Given the description of an element on the screen output the (x, y) to click on. 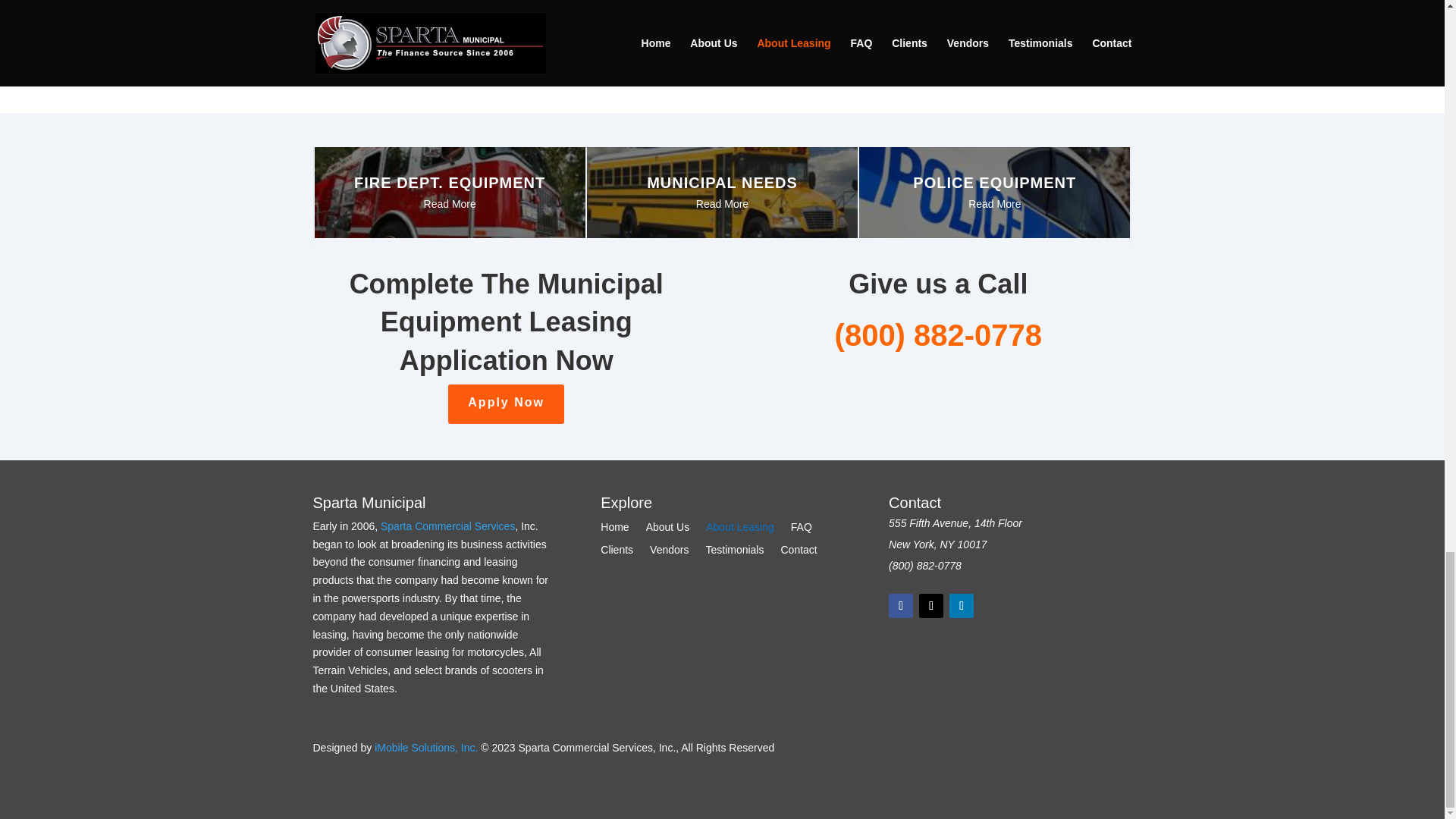
Contact (798, 552)
About Us (668, 529)
Follow on Facebook (900, 605)
Clients (616, 552)
FAQ (801, 529)
Apply Now (506, 404)
Vendors (668, 552)
Testimonials (733, 552)
Sparta Commercial Services (447, 526)
Follow on LinkedIn (961, 605)
Follow on X (930, 605)
About Leasing (740, 529)
Home (613, 529)
